Given the description of an element on the screen output the (x, y) to click on. 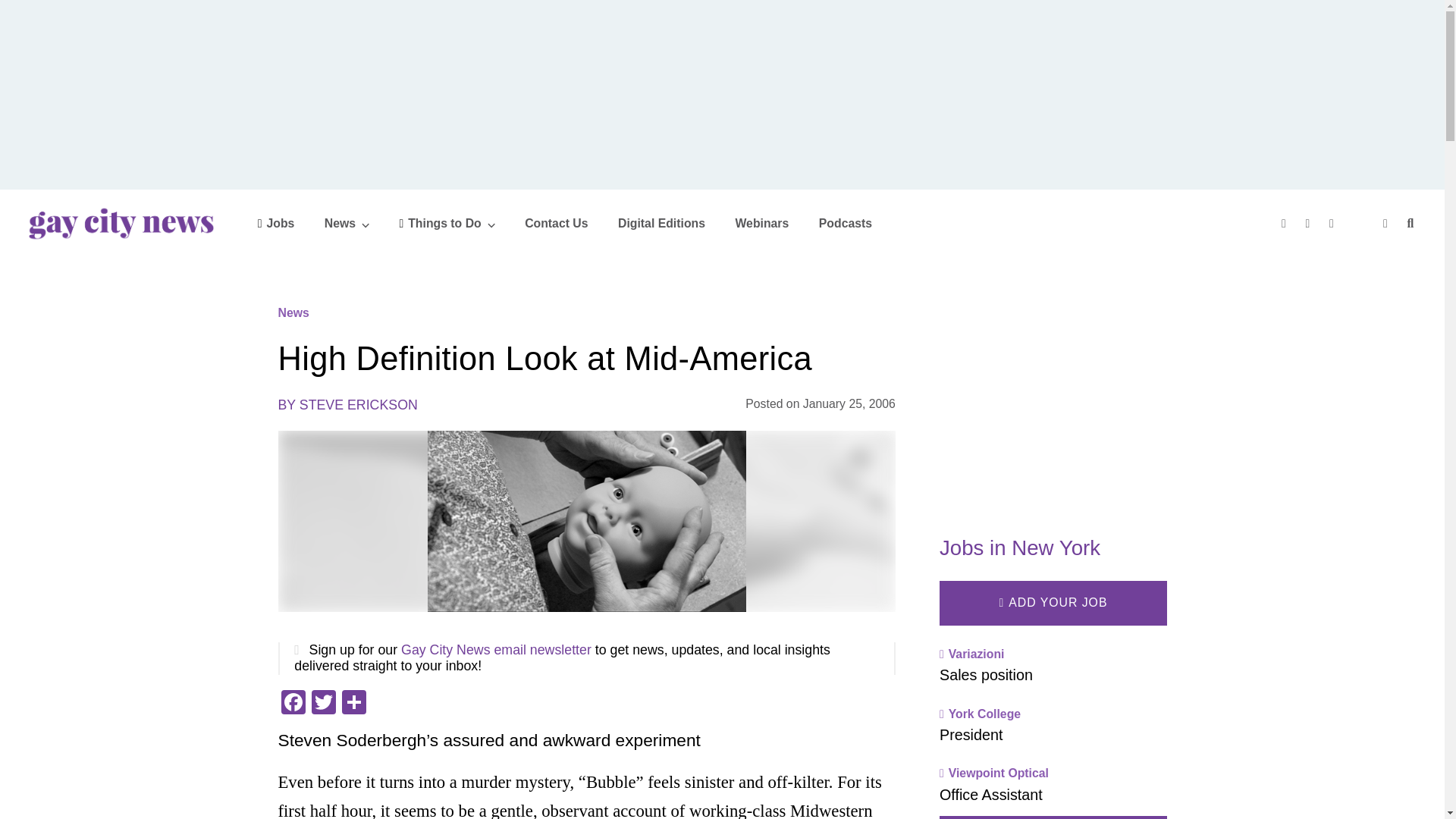
Twitter (322, 704)
News (346, 223)
Podcasts (845, 223)
Digital Editions (660, 223)
Things to Do (446, 223)
Jobs (276, 223)
Contact Us (556, 223)
Webinars (762, 223)
Facebook (292, 704)
